Given the description of an element on the screen output the (x, y) to click on. 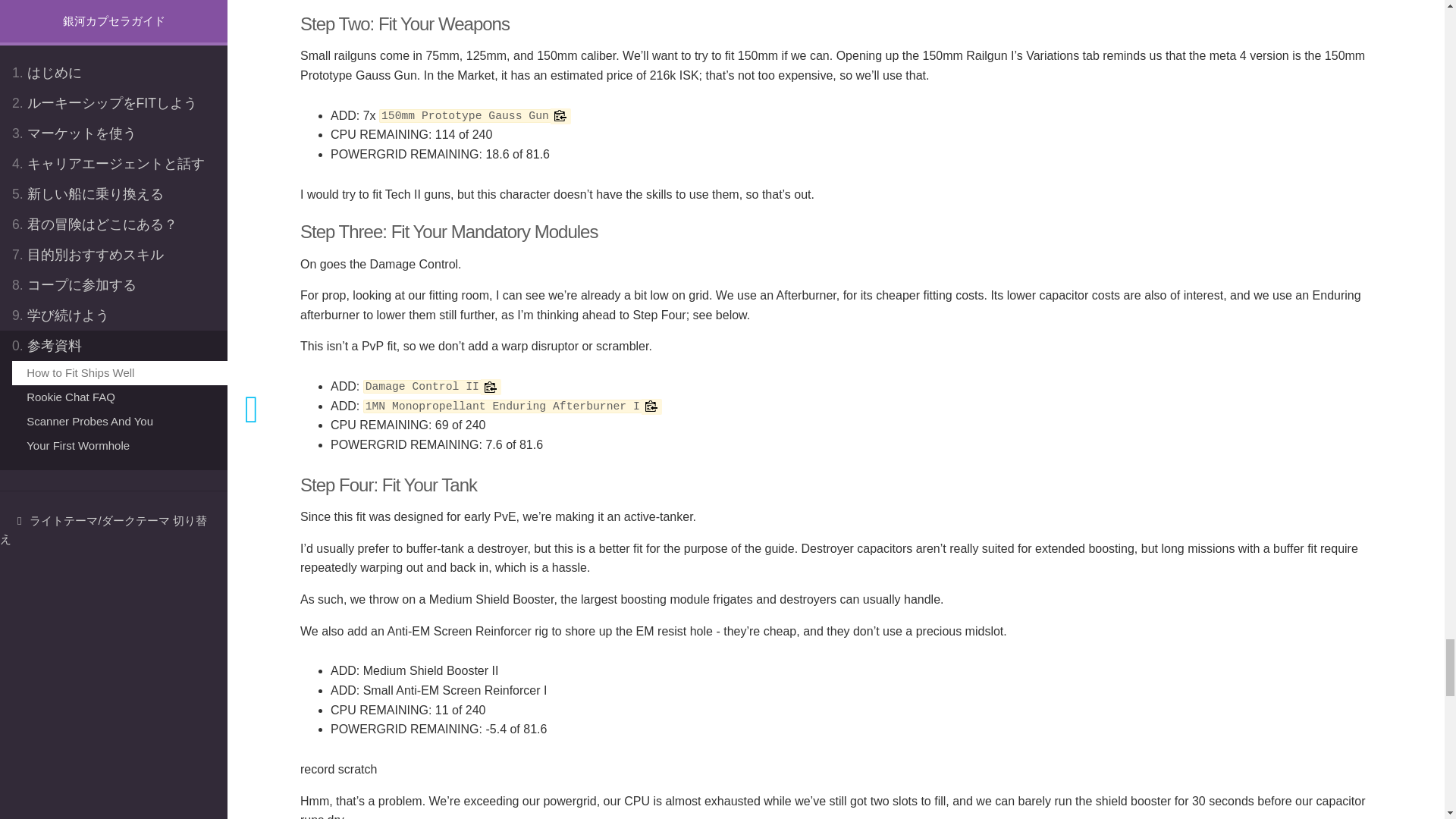
Copy to clipboard (490, 386)
Copy to clipboard (560, 115)
Copy to clipboard (652, 406)
